Given the description of an element on the screen output the (x, y) to click on. 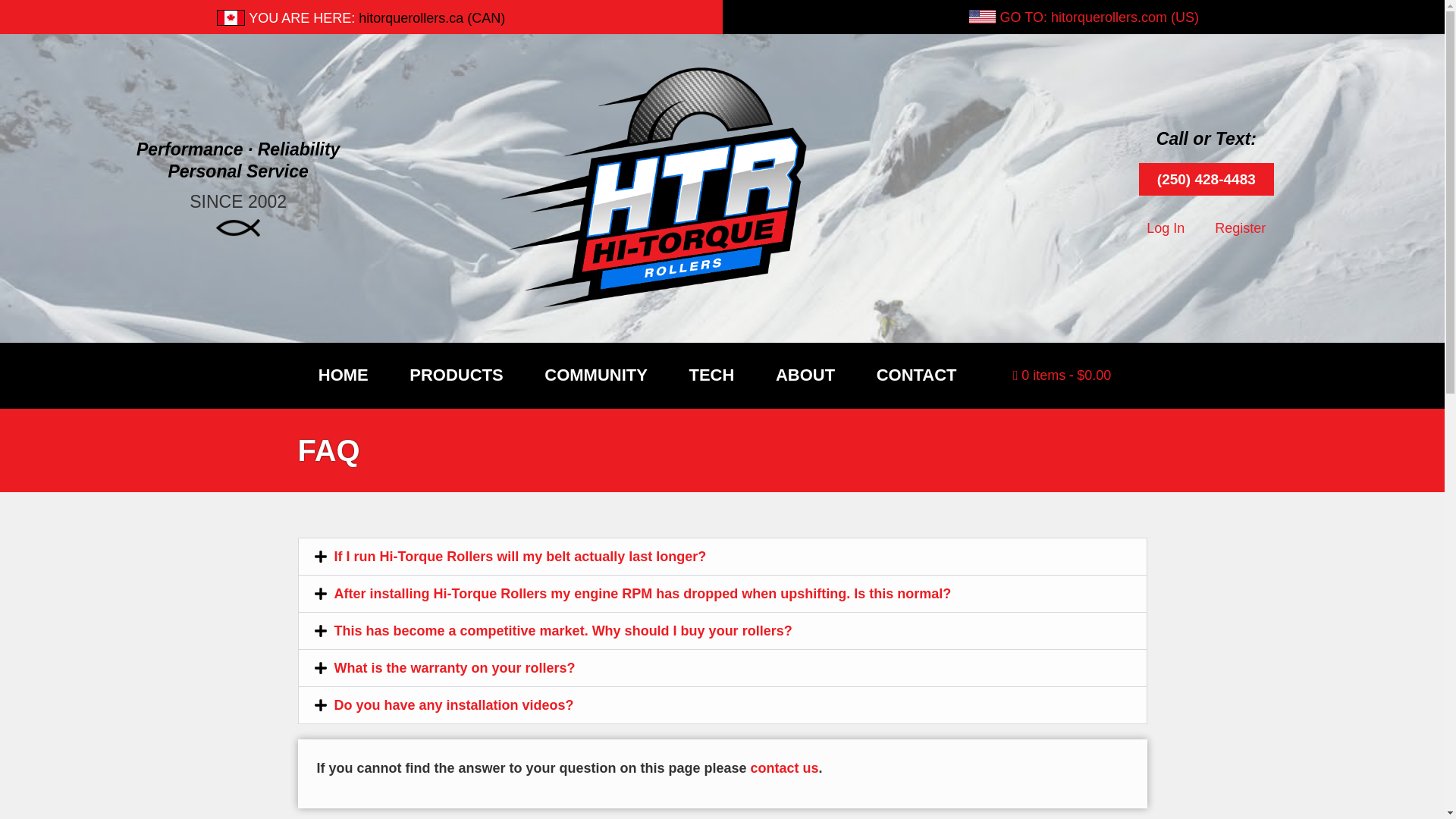
Start shopping (1061, 375)
